Given the description of an element on the screen output the (x, y) to click on. 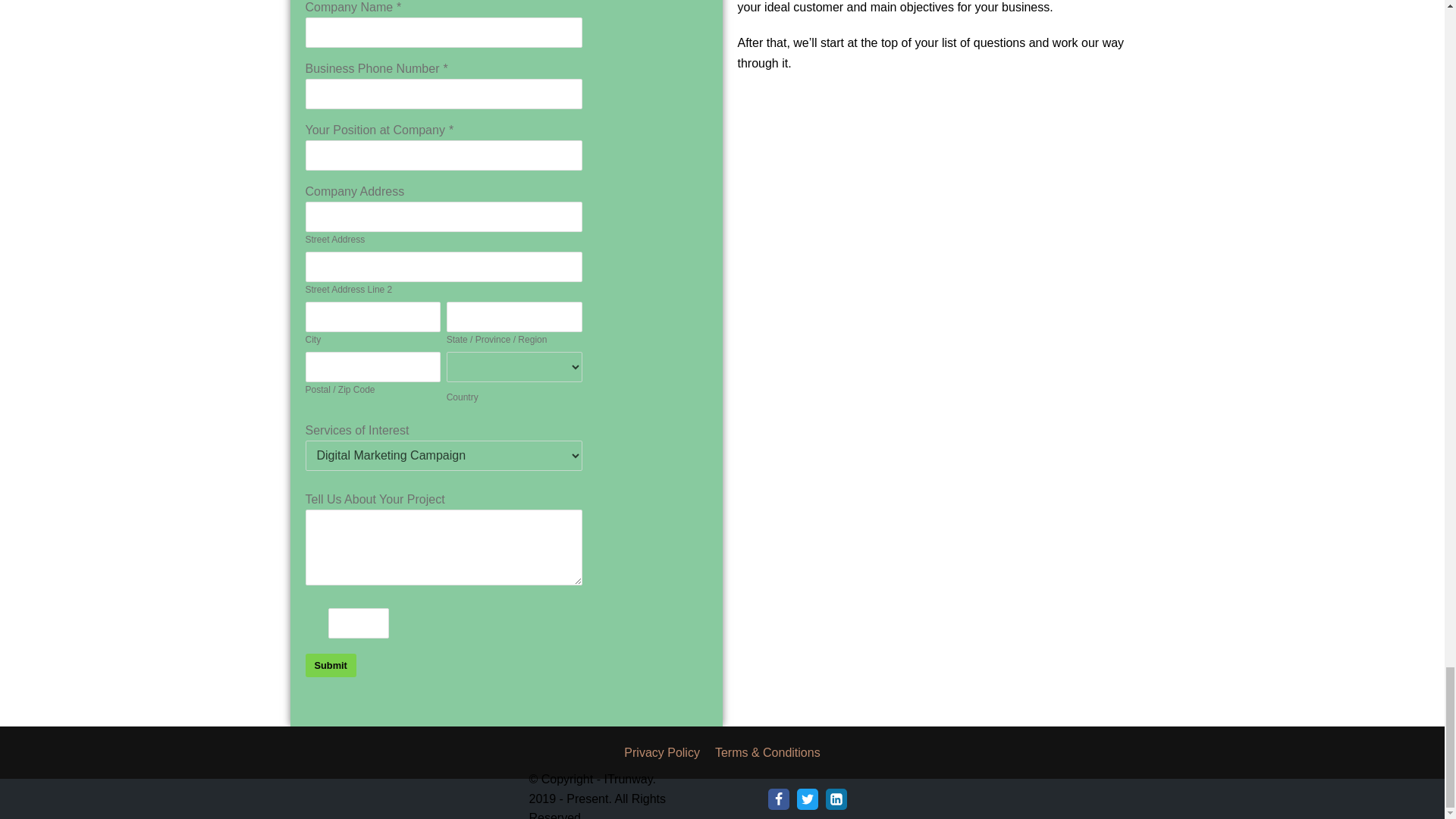
Facebook (778, 798)
Submit (329, 665)
Twitter (807, 798)
LinkedIn (836, 798)
